Given the description of an element on the screen output the (x, y) to click on. 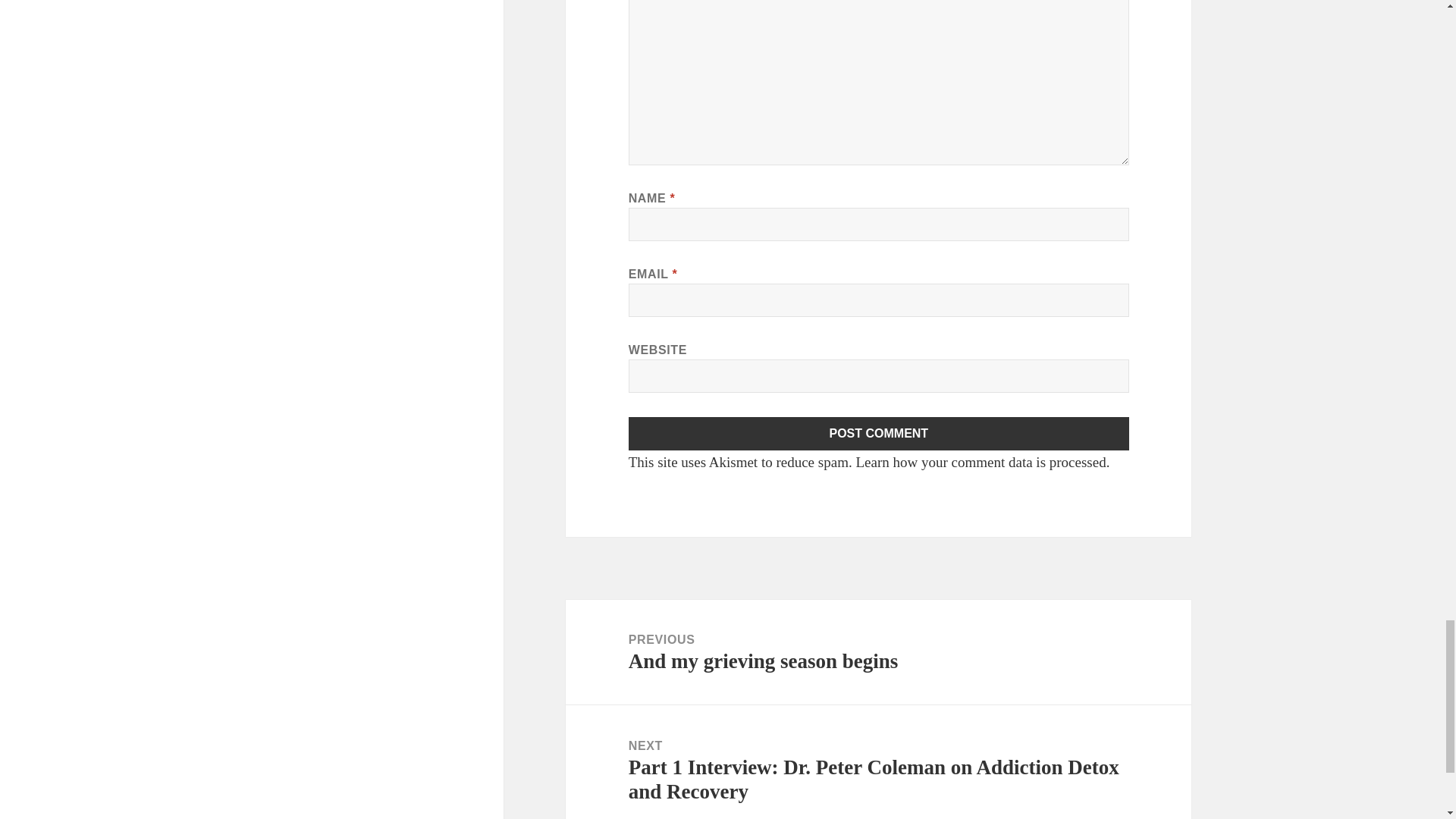
Post Comment (878, 433)
